Given the description of an element on the screen output the (x, y) to click on. 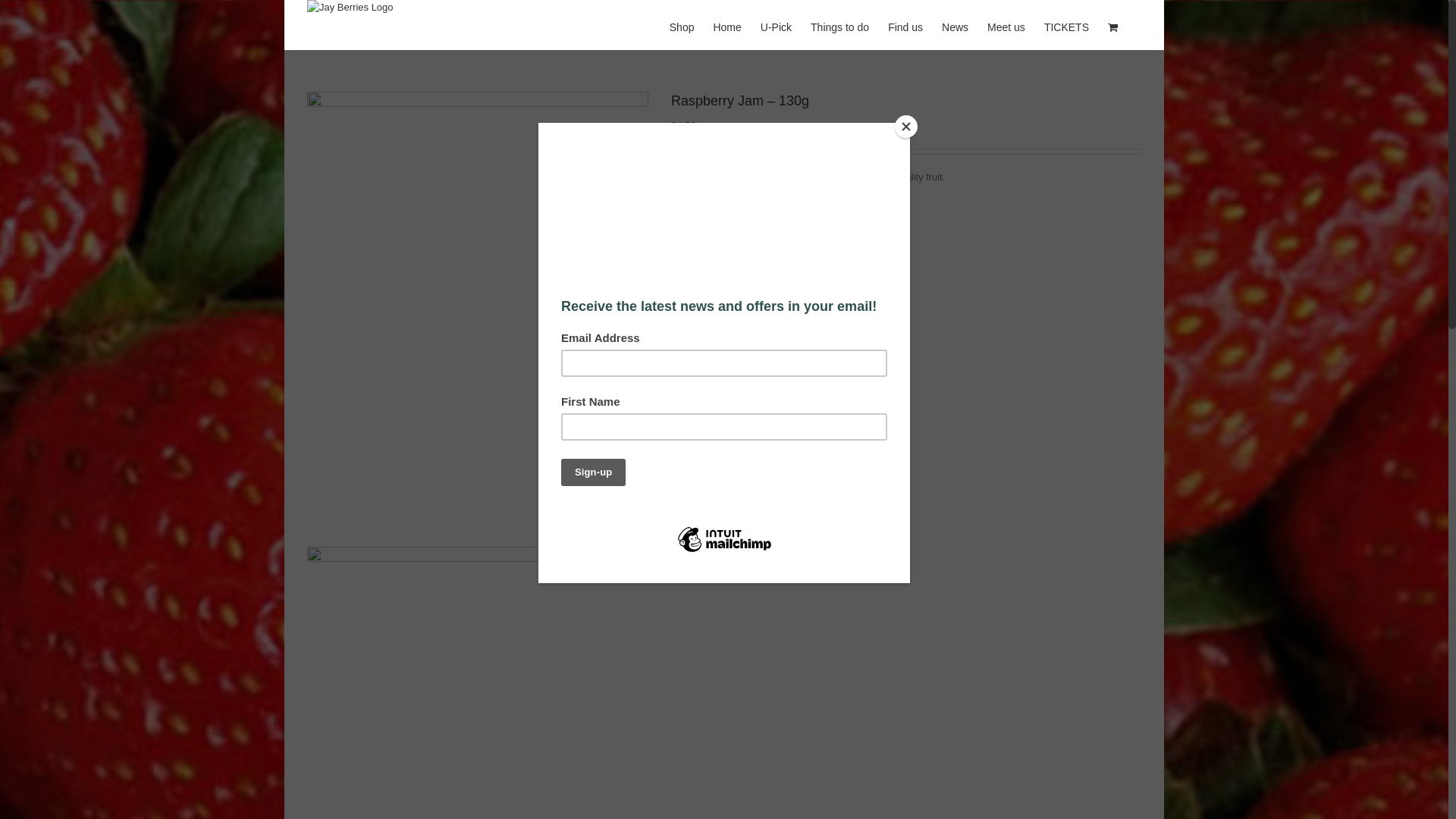
News Element type: text (954, 25)
Things to do Element type: text (839, 25)
Home Element type: text (726, 25)
TICKETS Element type: text (1066, 25)
U-Pick Element type: text (775, 25)
20220825_151445 Element type: hover (477, 318)
ADD TO CART Element type: text (831, 293)
Meet us Element type: text (1006, 25)
Find us Element type: text (905, 25)
Jam Element type: text (725, 366)
Shop Element type: text (681, 25)
